Given the description of an element on the screen output the (x, y) to click on. 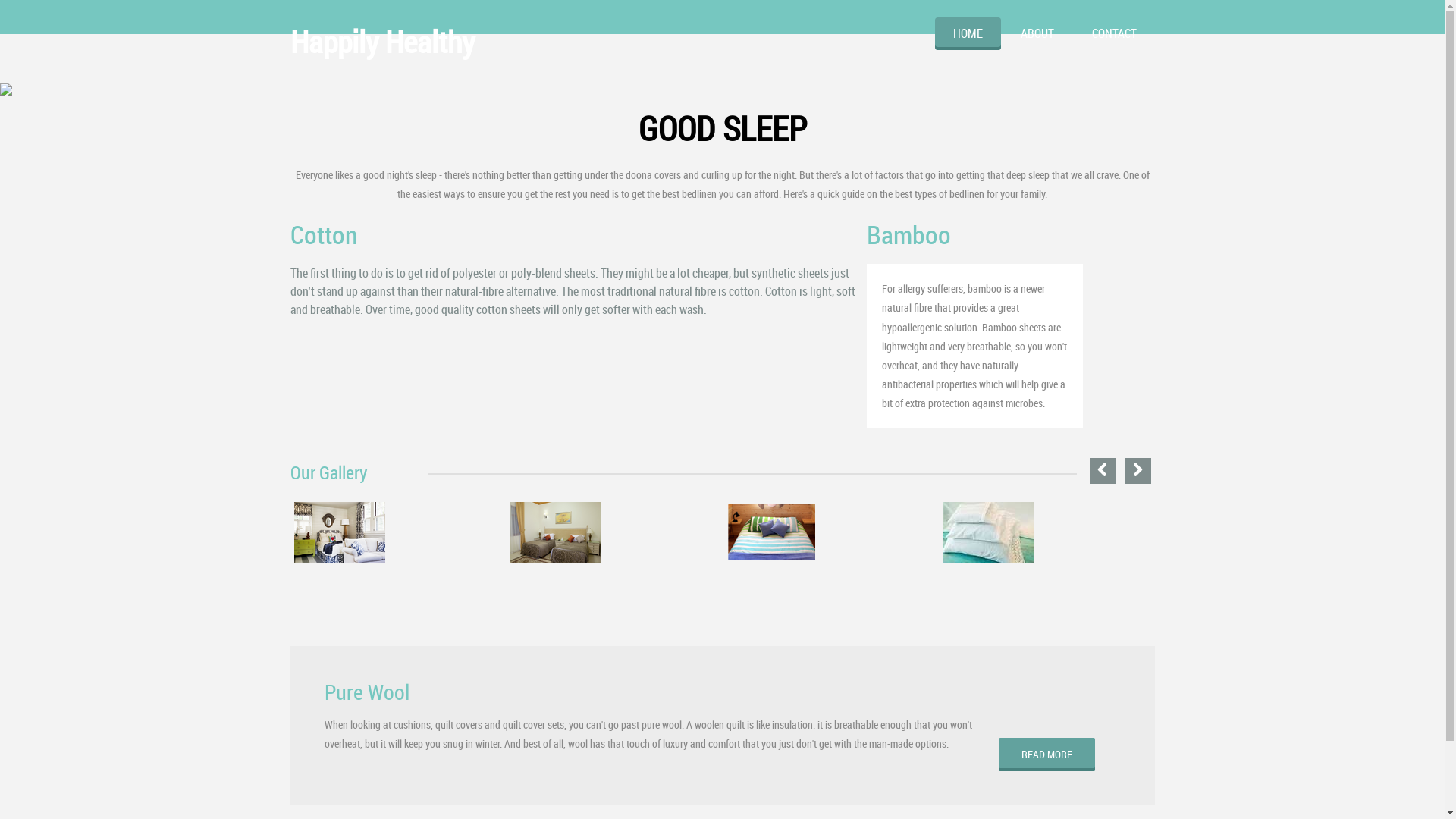
ABOUT Element type: text (1037, 33)
HOME Element type: text (967, 33)
Happily Healthy Element type: text (381, 41)
READ MORE Element type: text (1046, 754)
CONTACT Element type: text (1113, 33)
